Given the description of an element on the screen output the (x, y) to click on. 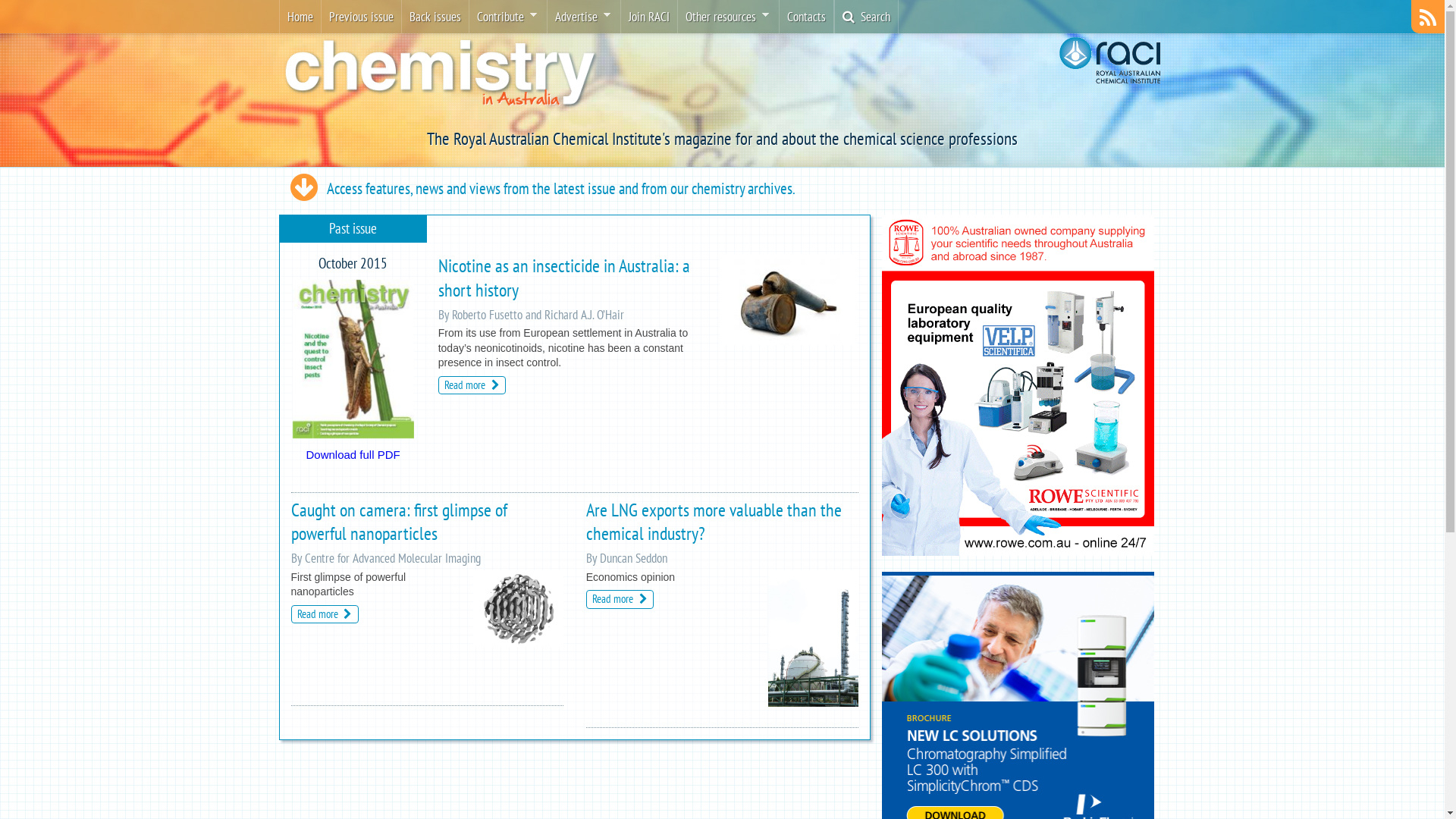
Search Element type: text (865, 16)
Previous issue Element type: text (361, 16)
Nicotine as an insecticide in Australia: a short history Element type: text (564, 277)
Read more Element type: text (619, 599)
Read more Element type: text (324, 614)
Back issues Element type: text (434, 16)
Caught on camera: first glimpse of powerful nanoparticles Element type: text (399, 521)
Home Element type: text (299, 16)
Read more Element type: text (471, 385)
Contacts Element type: text (806, 16)
Join RACI Element type: text (648, 16)
Download full PDF Element type: text (352, 454)
Are LNG exports more valuable than the chemical industry? Element type: text (713, 521)
October 2015 Element type: hover (353, 359)
October 2015 Element type: hover (353, 436)
